Given the description of an element on the screen output the (x, y) to click on. 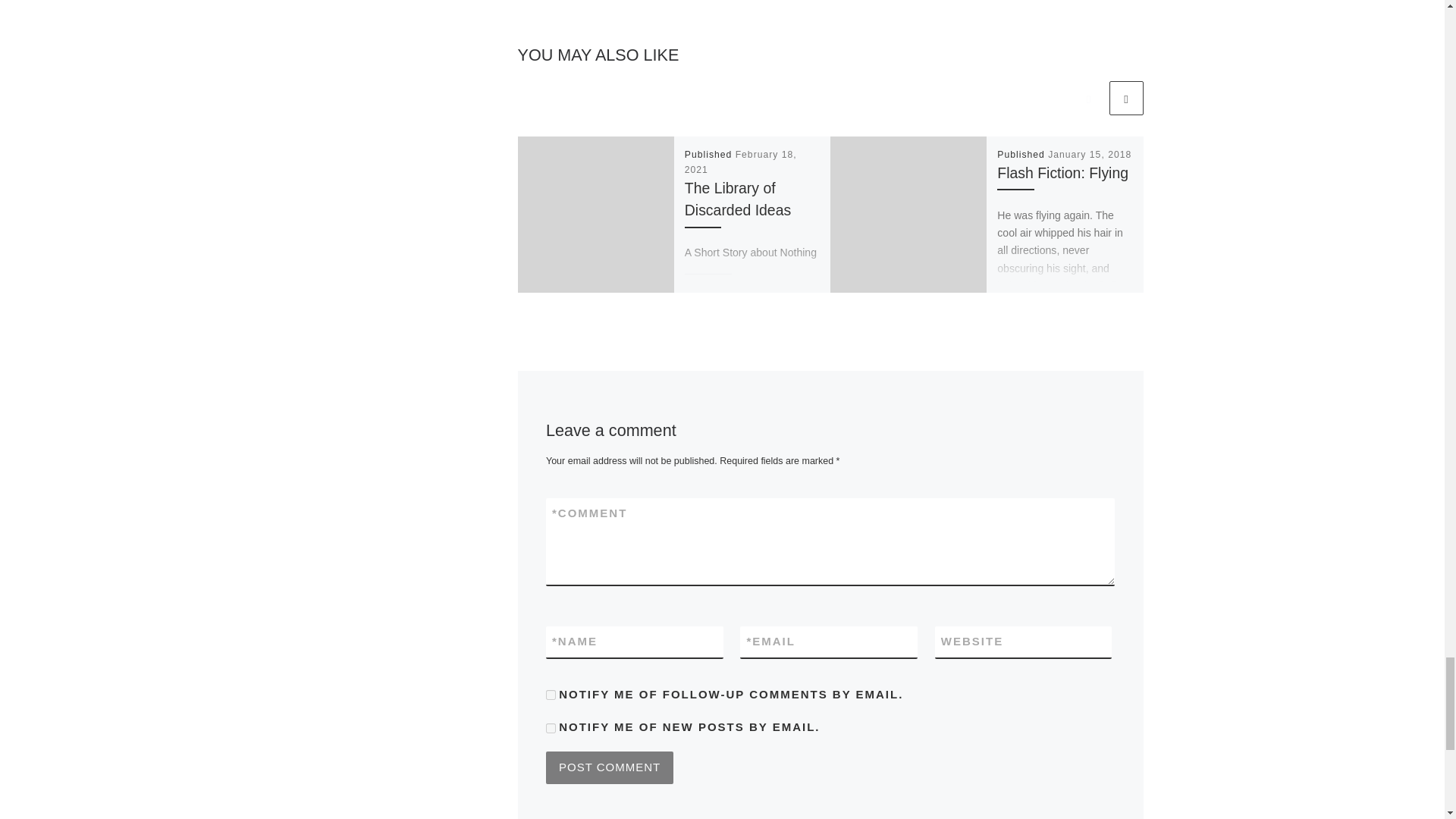
Next related articles (1125, 98)
Previous related articles (1088, 98)
Post Comment (609, 767)
subscribe (551, 728)
subscribe (551, 695)
